Given the description of an element on the screen output the (x, y) to click on. 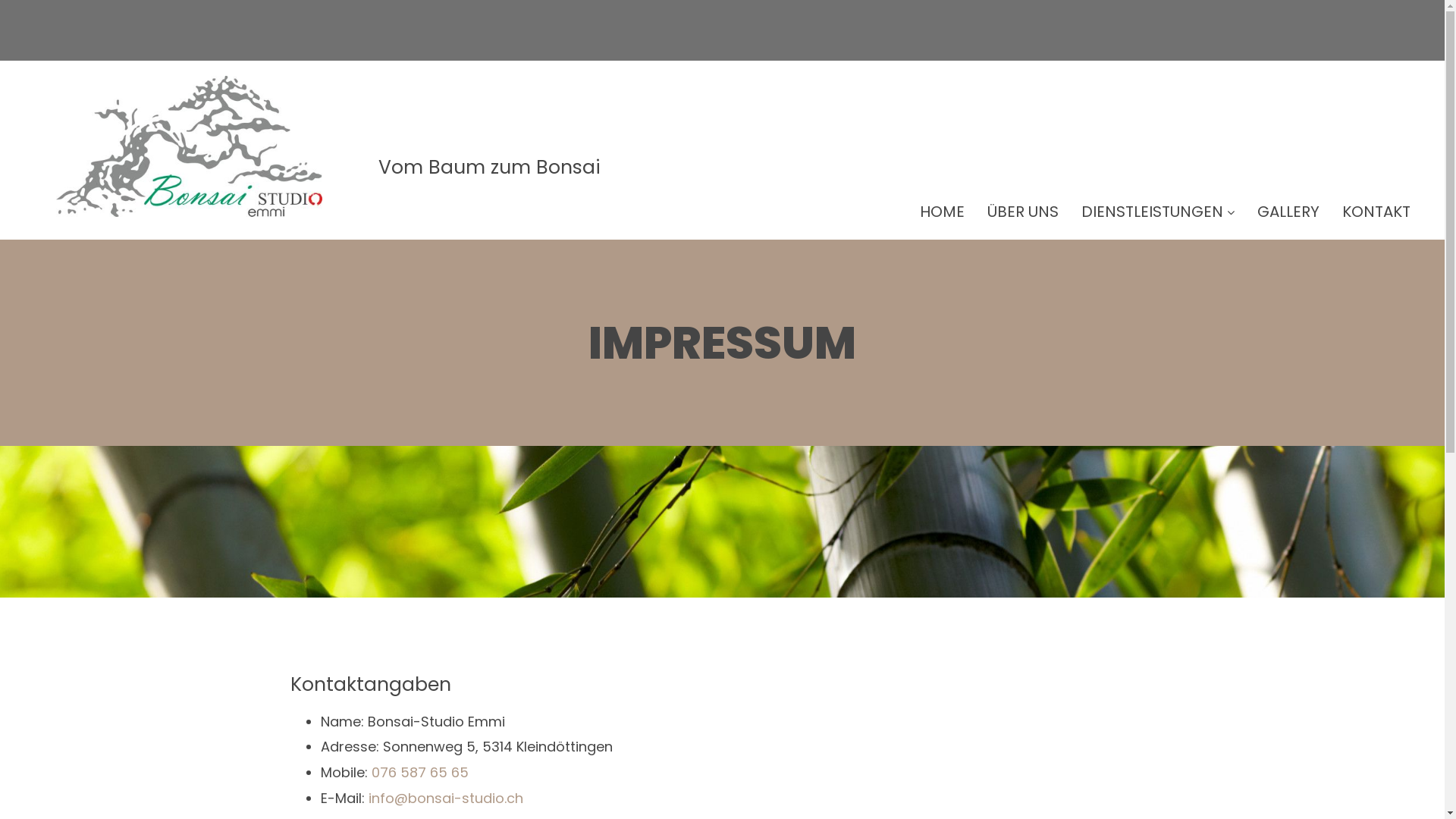
DIENSTLEISTUNGEN Element type: text (1157, 211)
info@bonsai-studio.ch Element type: text (445, 797)
HOME Element type: text (941, 211)
GALLERY Element type: text (1288, 211)
KONTAKT Element type: text (1376, 211)
076 587 65 65 Element type: text (419, 771)
